Given the description of an element on the screen output the (x, y) to click on. 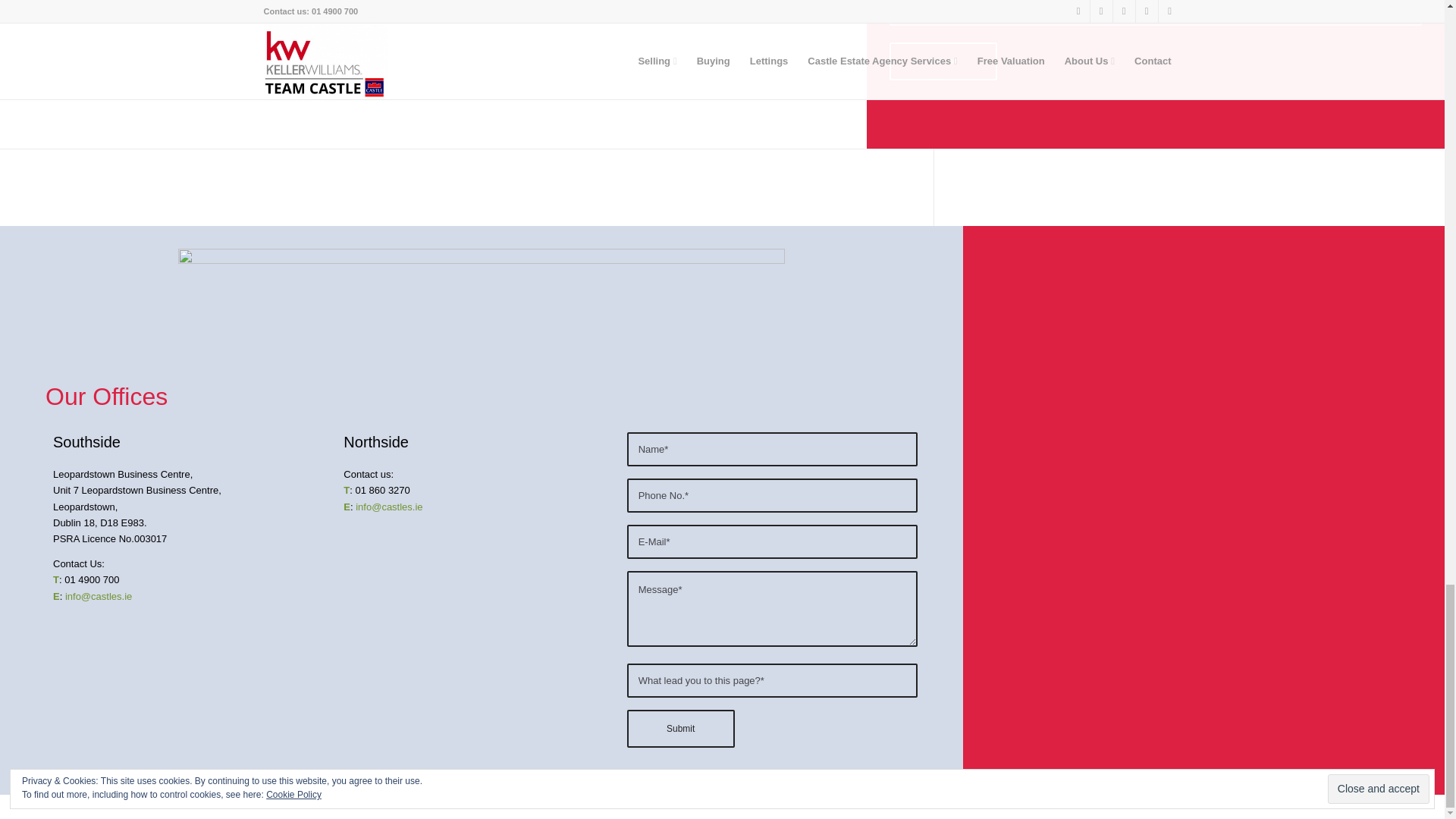
Submit (681, 728)
Submit (943, 61)
Submit (943, 61)
Submit (681, 728)
